Given the description of an element on the screen output the (x, y) to click on. 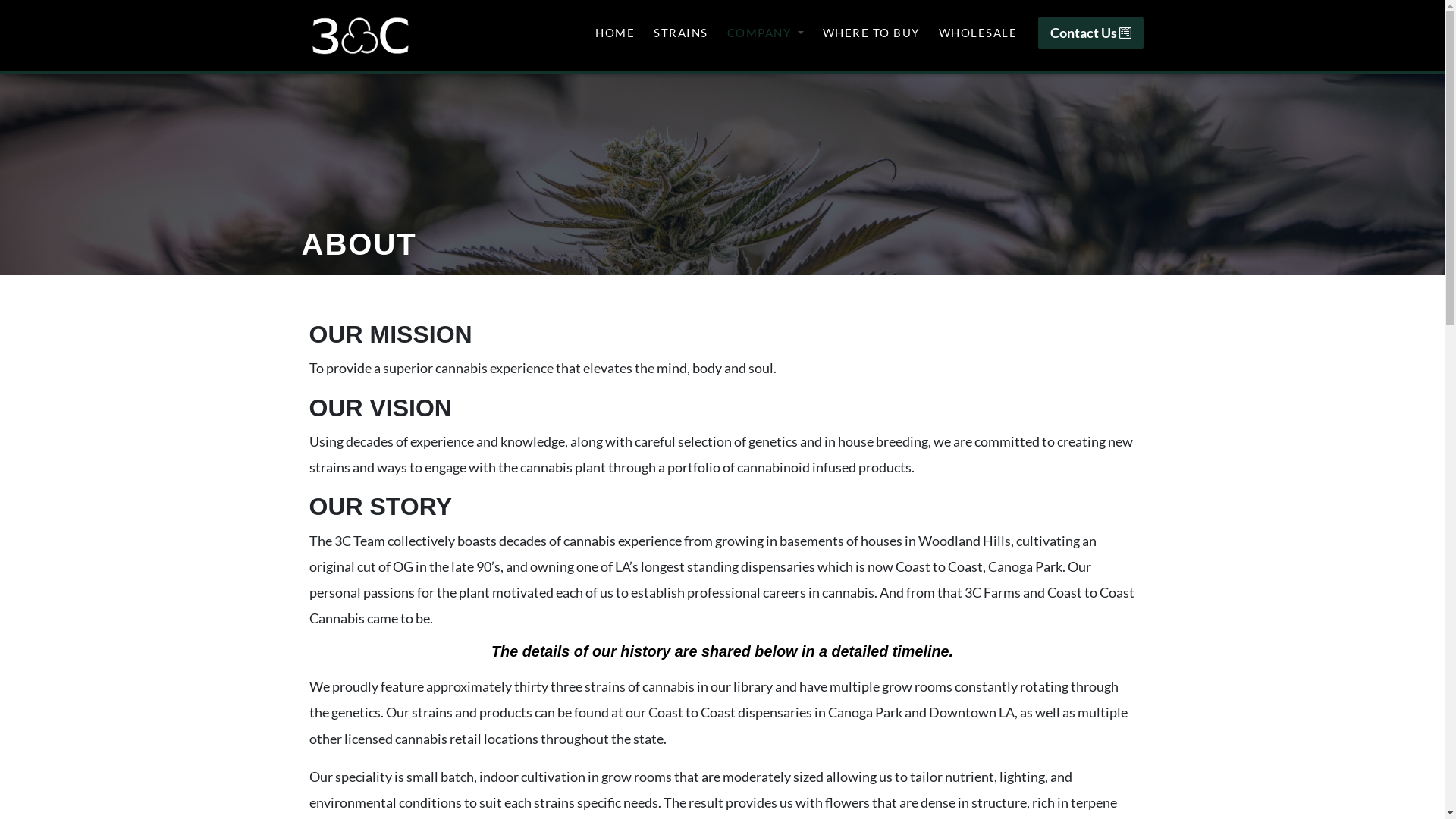
WHERE TO BUY Element type: text (871, 32)
Contact Us Element type: text (1089, 32)
HOME Element type: text (614, 32)
WHOLESALE Element type: text (977, 32)
STRAINS Element type: text (680, 32)
COMPANY Element type: text (765, 32)
